Given the description of an element on the screen output the (x, y) to click on. 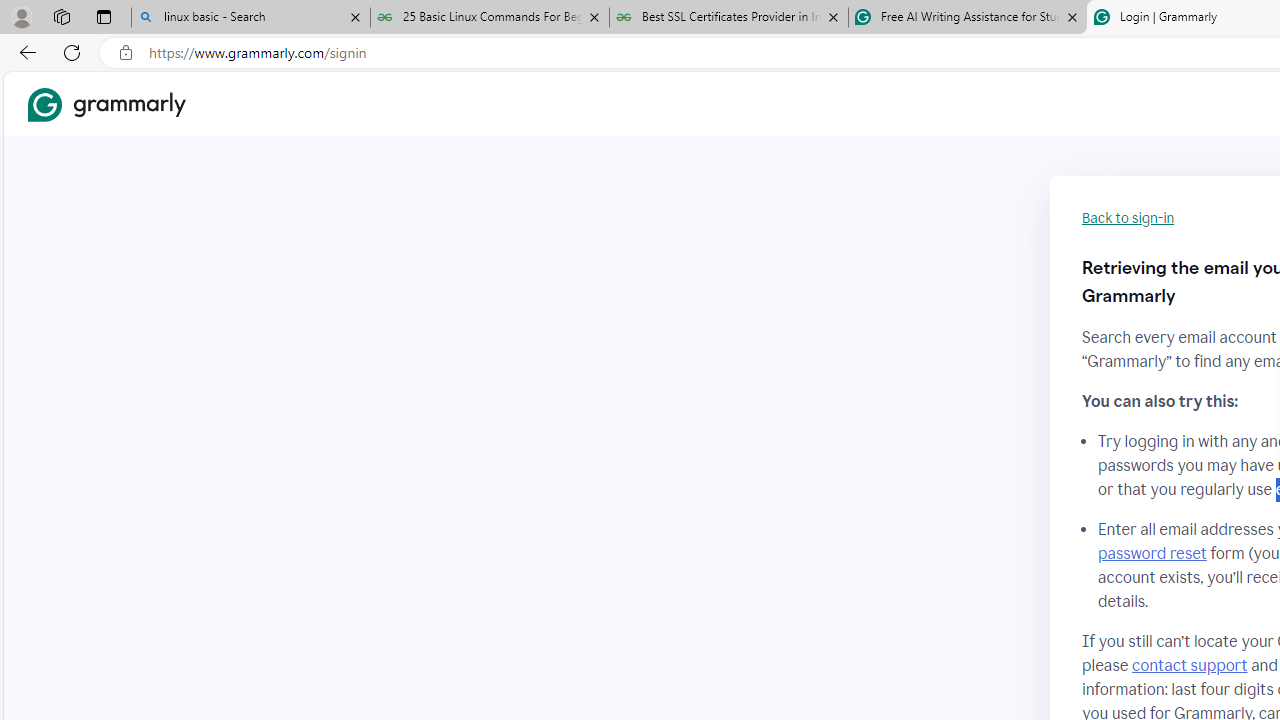
25 Basic Linux Commands For Beginners - GeeksforGeeks (490, 17)
Grammarly Home (106, 103)
Free AI Writing Assistance for Students | Grammarly (967, 17)
password reset (1152, 553)
linux basic - Search (250, 17)
Back to sign-in (1128, 218)
Best SSL Certificates Provider in India - GeeksforGeeks (729, 17)
contact support (1189, 665)
Grammarly Home (106, 104)
